Given the description of an element on the screen output the (x, y) to click on. 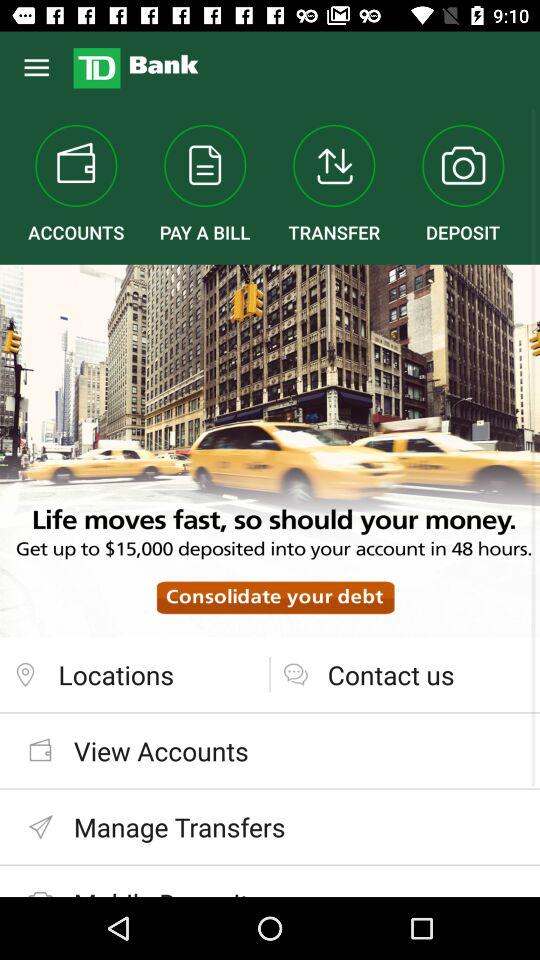
click the view accounts icon (270, 750)
